Given the description of an element on the screen output the (x, y) to click on. 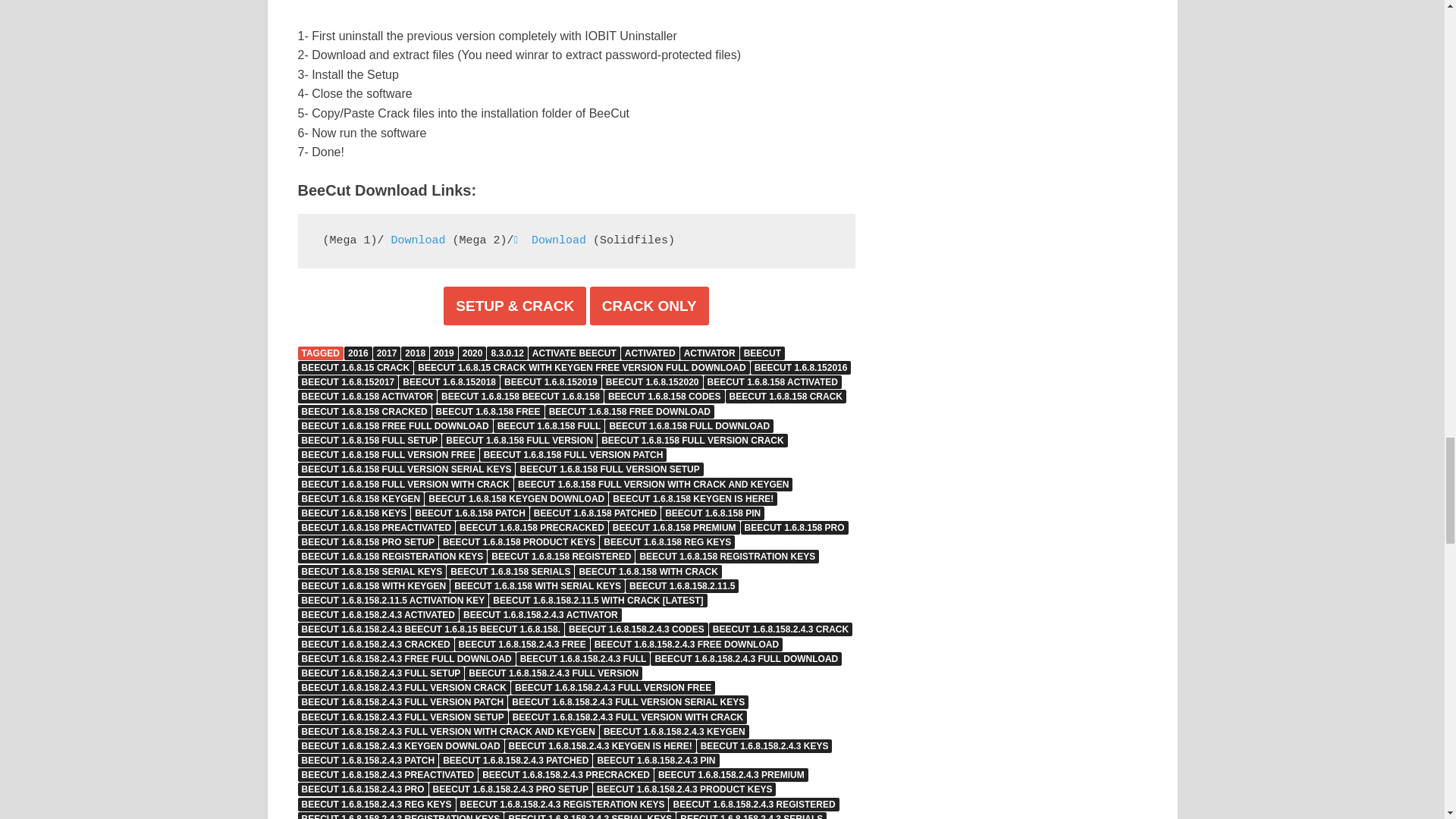
2016 (357, 353)
BEECUT 1.6.8.152017 (347, 382)
2019 (443, 353)
BEECUT 1.6.8.152019 (550, 382)
ACTIVATOR (709, 353)
8.3.0.12 (506, 353)
BEECUT 1.6.8.152018 (448, 382)
BEECUT 1.6.8.15 CRACK (355, 367)
ACTIVATE BEECUT (574, 353)
2017 (386, 353)
CRACK ONLY (649, 305)
  Download (549, 240)
ACTIVATED (650, 353)
 Download (414, 240)
2020 (472, 353)
